Given the description of an element on the screen output the (x, y) to click on. 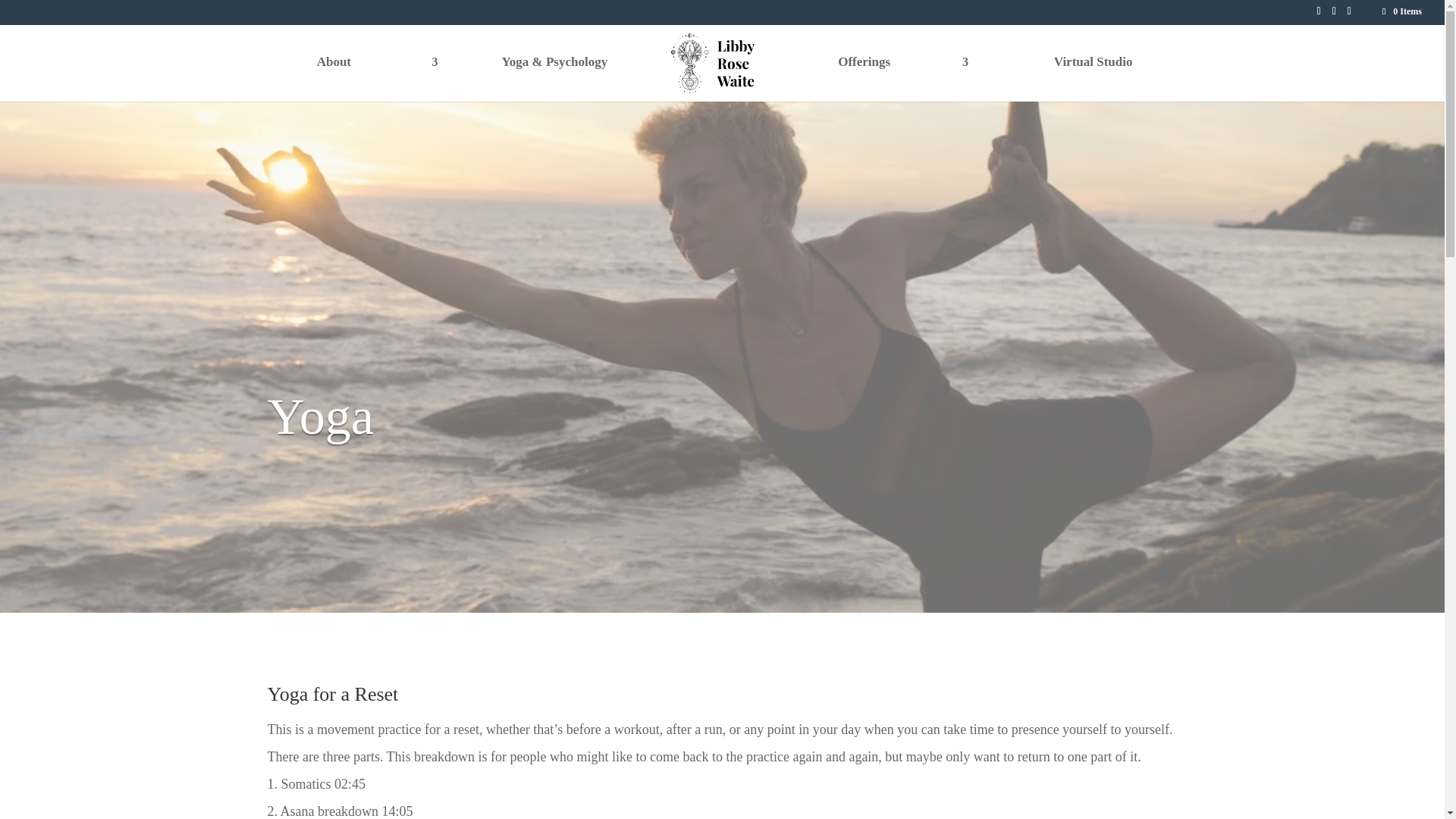
About (341, 78)
Virtual Studio (1092, 78)
0 Items (1401, 10)
Offerings (871, 78)
